Given the description of an element on the screen output the (x, y) to click on. 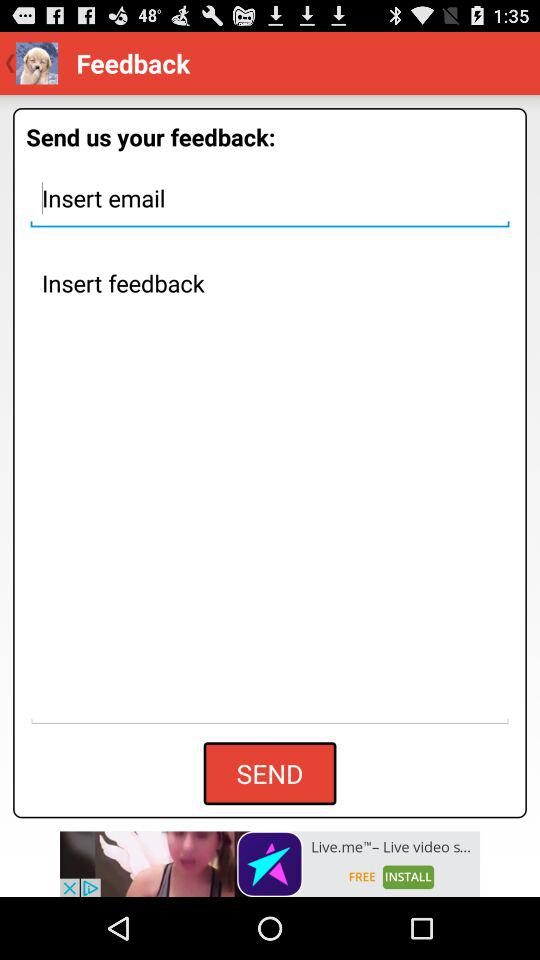
insert email (269, 198)
